Given the description of an element on the screen output the (x, y) to click on. 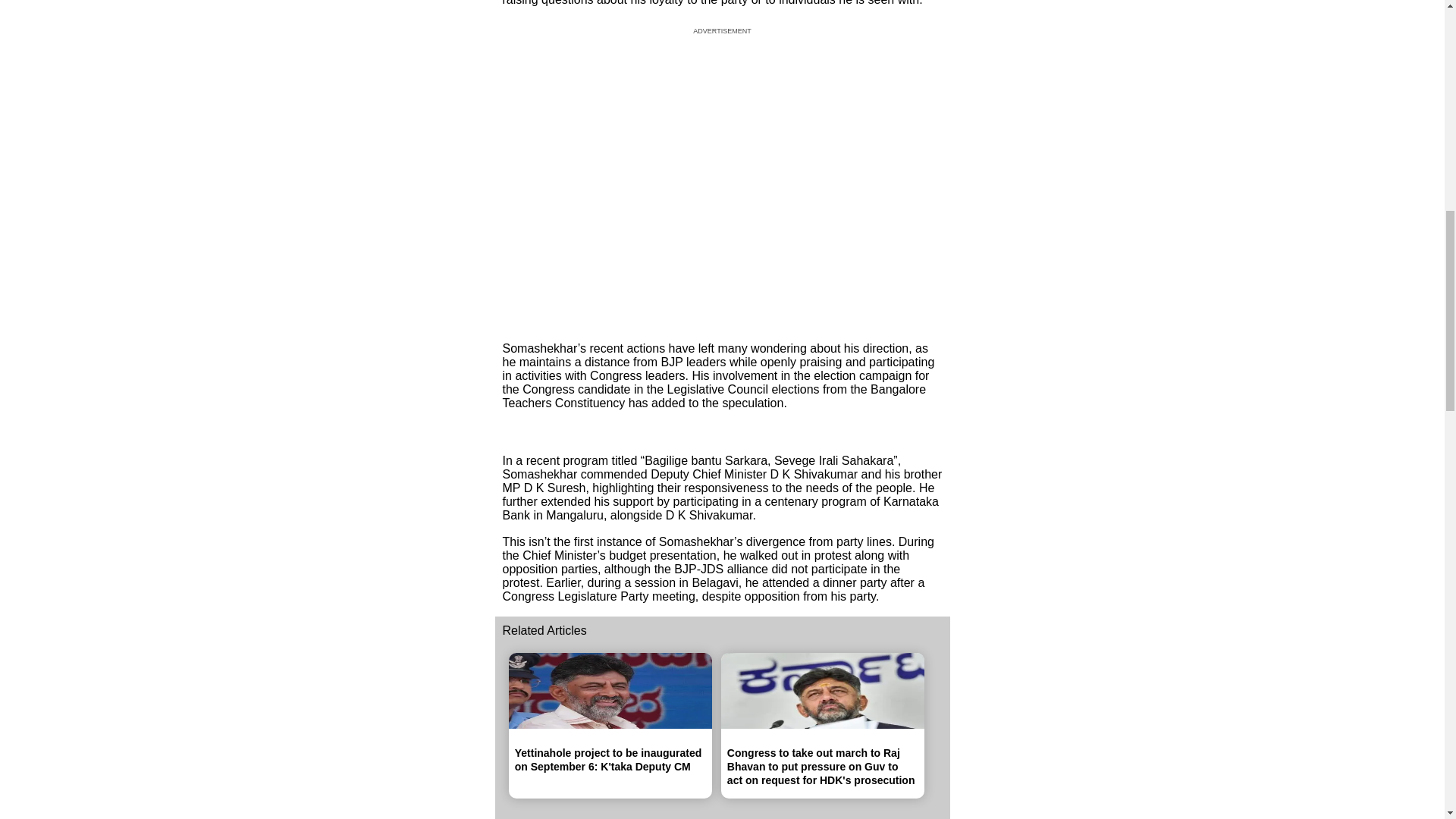
3rd party ad content (722, 178)
